Given the description of an element on the screen output the (x, y) to click on. 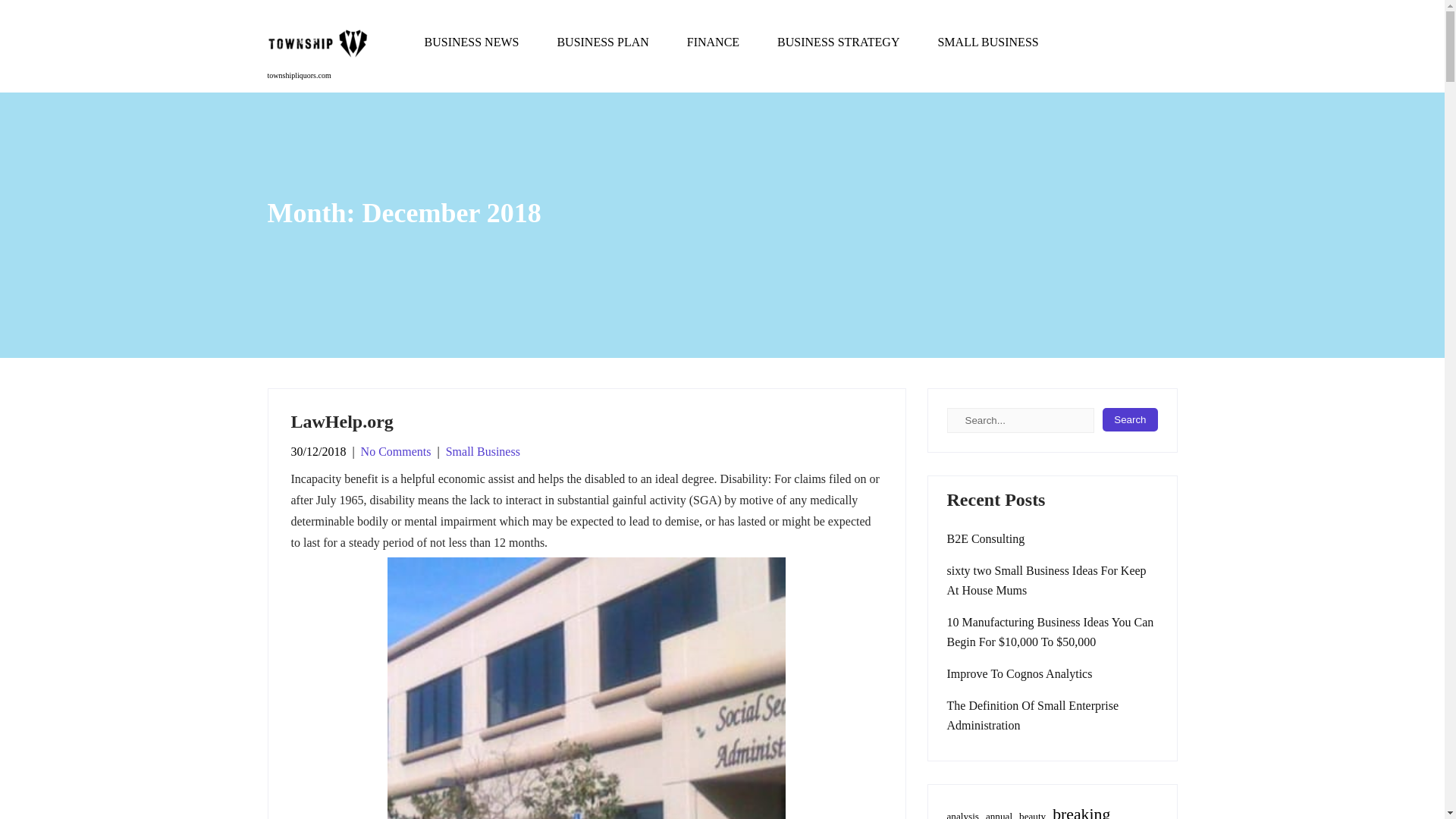
No Comments (395, 451)
Small Business (482, 451)
BUSINESS PLAN (601, 42)
LawHelp.org (342, 421)
SMALL BUSINESS (978, 42)
FINANCE (713, 42)
Search (1129, 419)
Search (1129, 419)
BUSINESS NEWS (470, 42)
BUSINESS STRATEGY (838, 42)
